Given the description of an element on the screen output the (x, y) to click on. 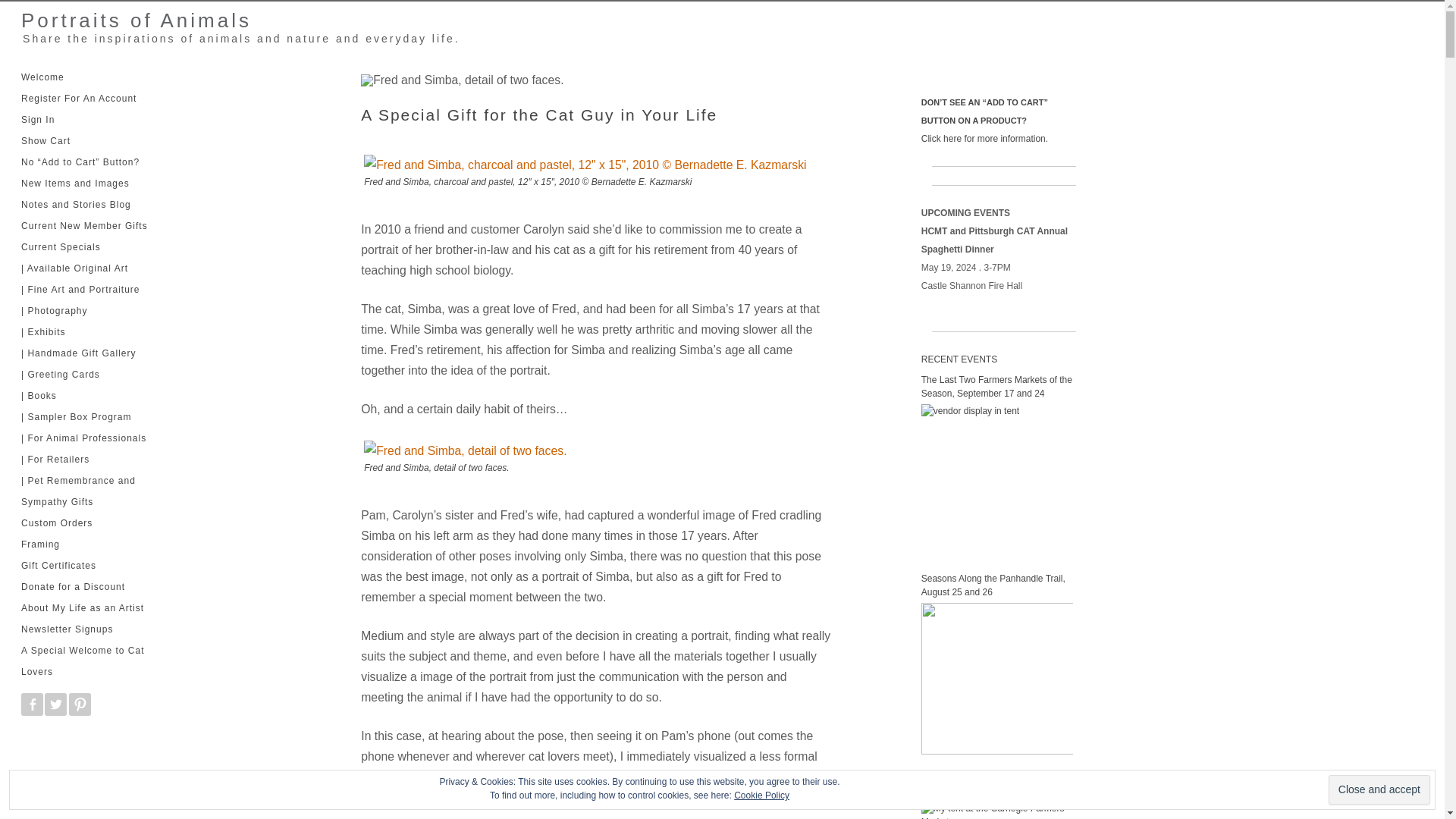
Skip to content (49, 72)
Close and accept (1378, 789)
Portraits of Animals (130, 20)
